Given the description of an element on the screen output the (x, y) to click on. 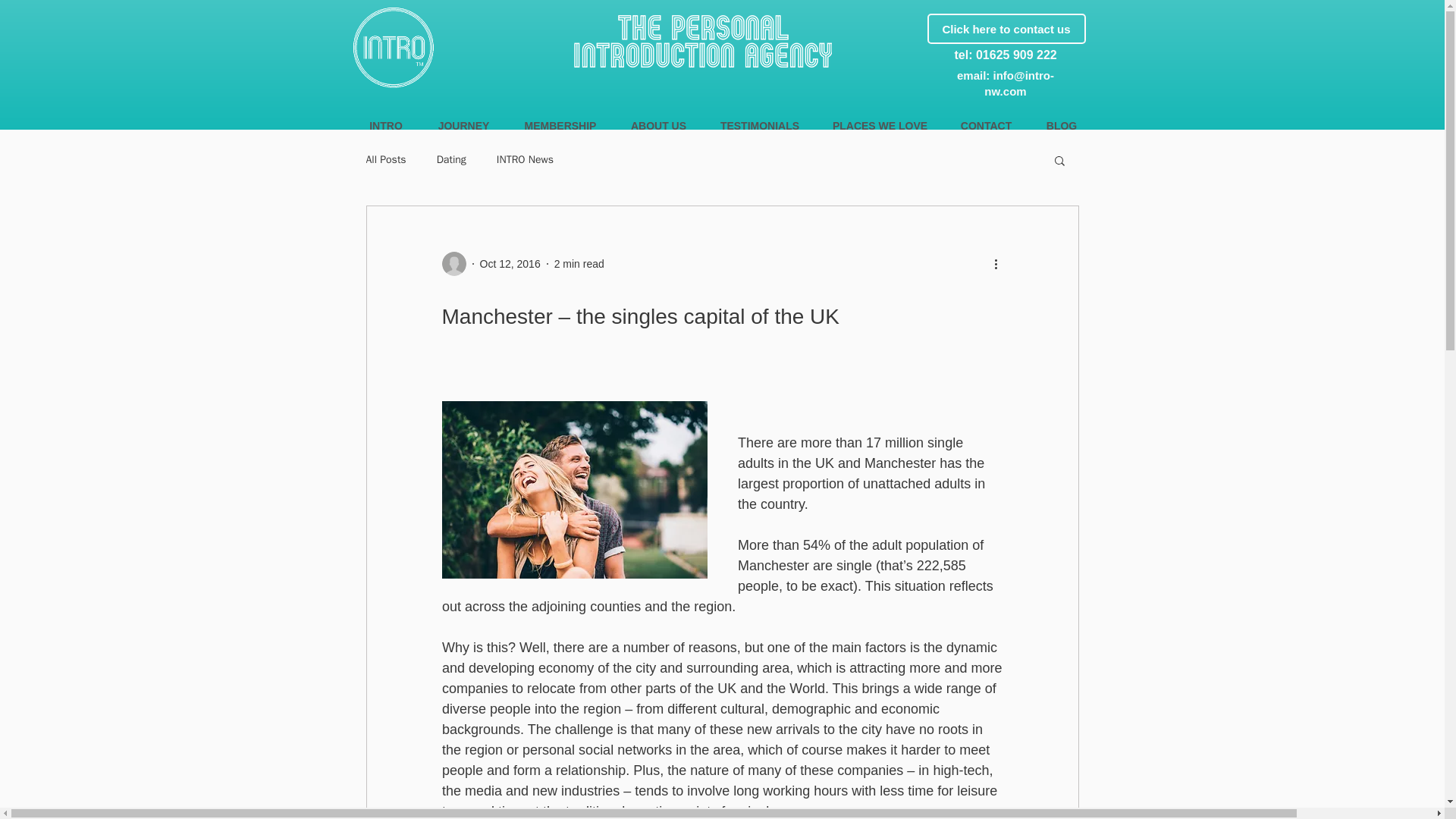
JOURNEY (463, 126)
Intro one line 2.png (702, 40)
2 min read (579, 263)
MEMBERSHIP (559, 126)
BLOG (1060, 126)
tel: 01625 909 222 (1005, 54)
INTRO News (524, 160)
TESTIMONIALS (759, 126)
Matchmaking Manchester (392, 46)
INTRO (386, 126)
PLACES WE LOVE (879, 126)
All Posts (385, 160)
Oct 12, 2016 (509, 263)
CONTACT (985, 126)
Click here to contact us (1005, 28)
